Given the description of an element on the screen output the (x, y) to click on. 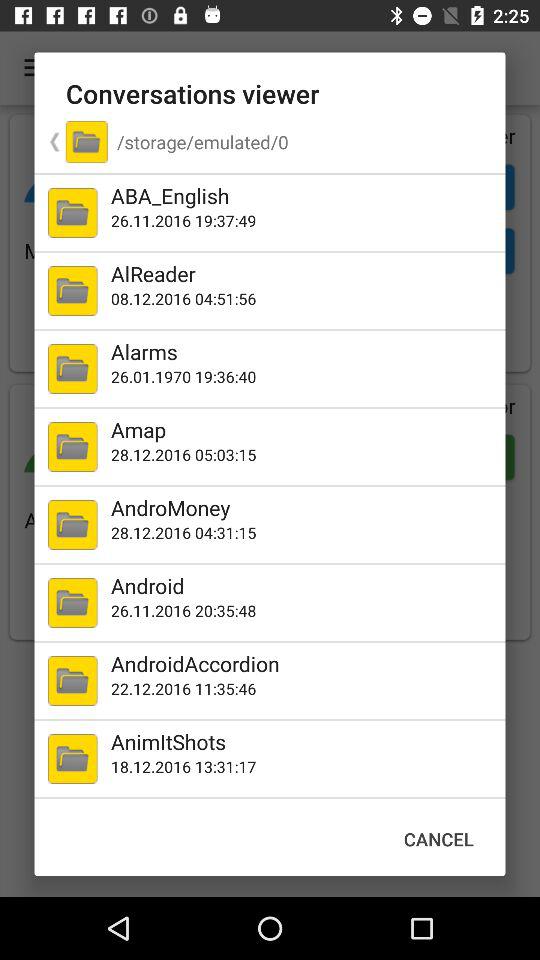
select icon above the 26 01 1970 item (304, 351)
